Given the description of an element on the screen output the (x, y) to click on. 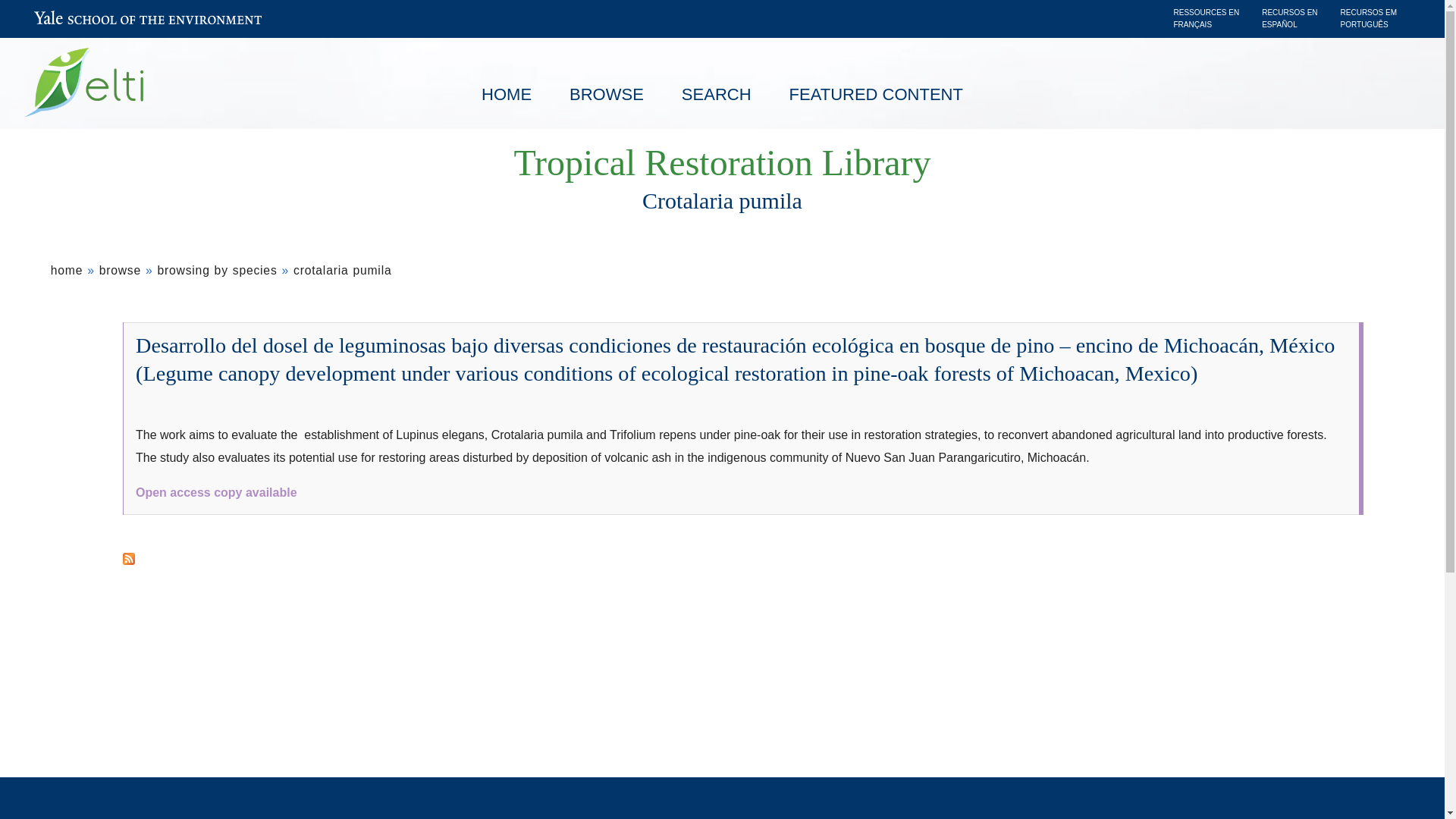
Skip to main content (586, 4)
SEARCH (716, 94)
home (66, 269)
FEATURED CONTENT (875, 94)
crotalaria pumila (342, 269)
HOME (506, 94)
Yale School of the Environment (147, 21)
browsing by species (216, 269)
browse (120, 269)
BROWSE (606, 94)
